Given the description of an element on the screen output the (x, y) to click on. 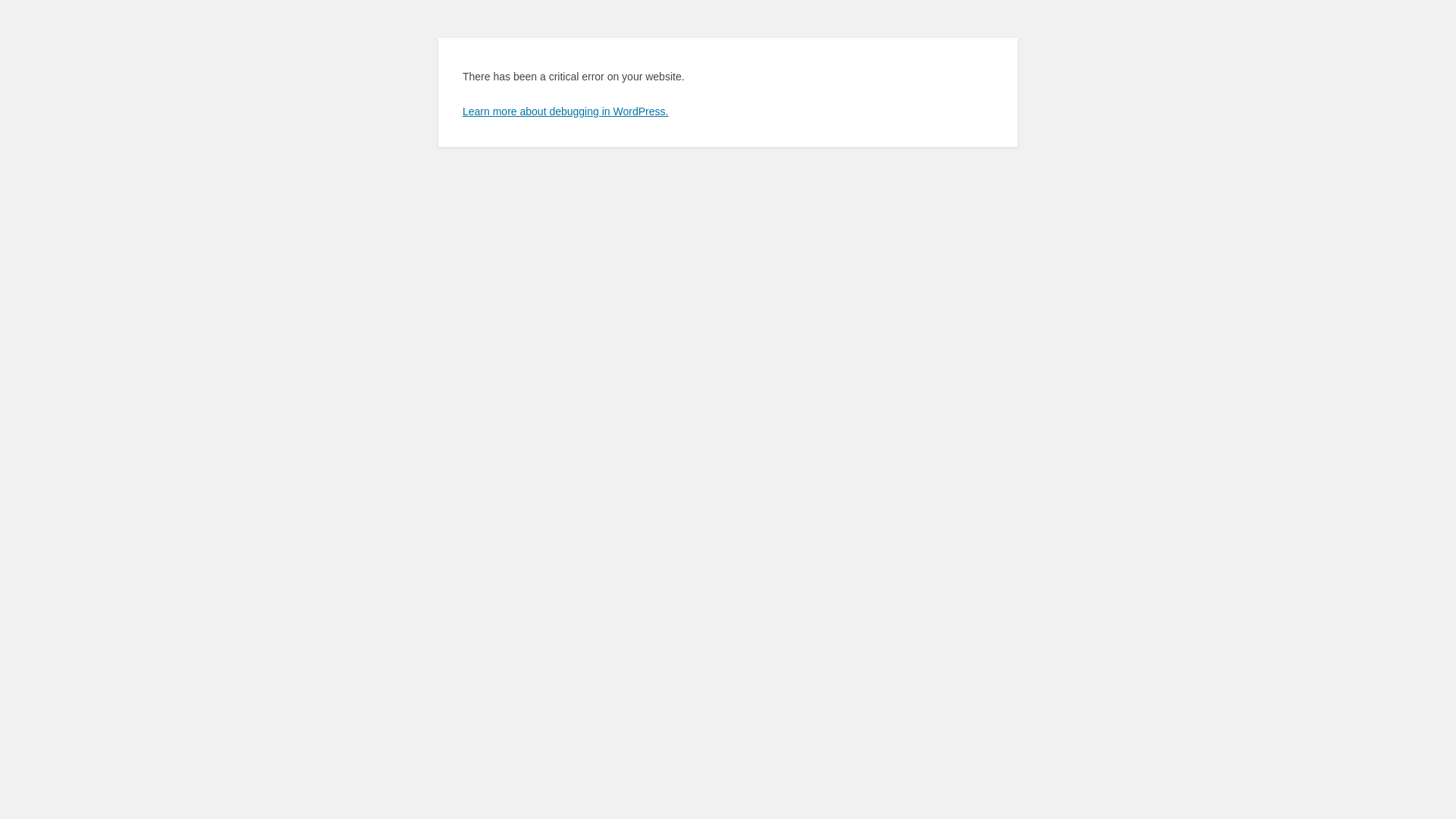
Learn more about debugging in WordPress. Element type: text (565, 111)
